Given the description of an element on the screen output the (x, y) to click on. 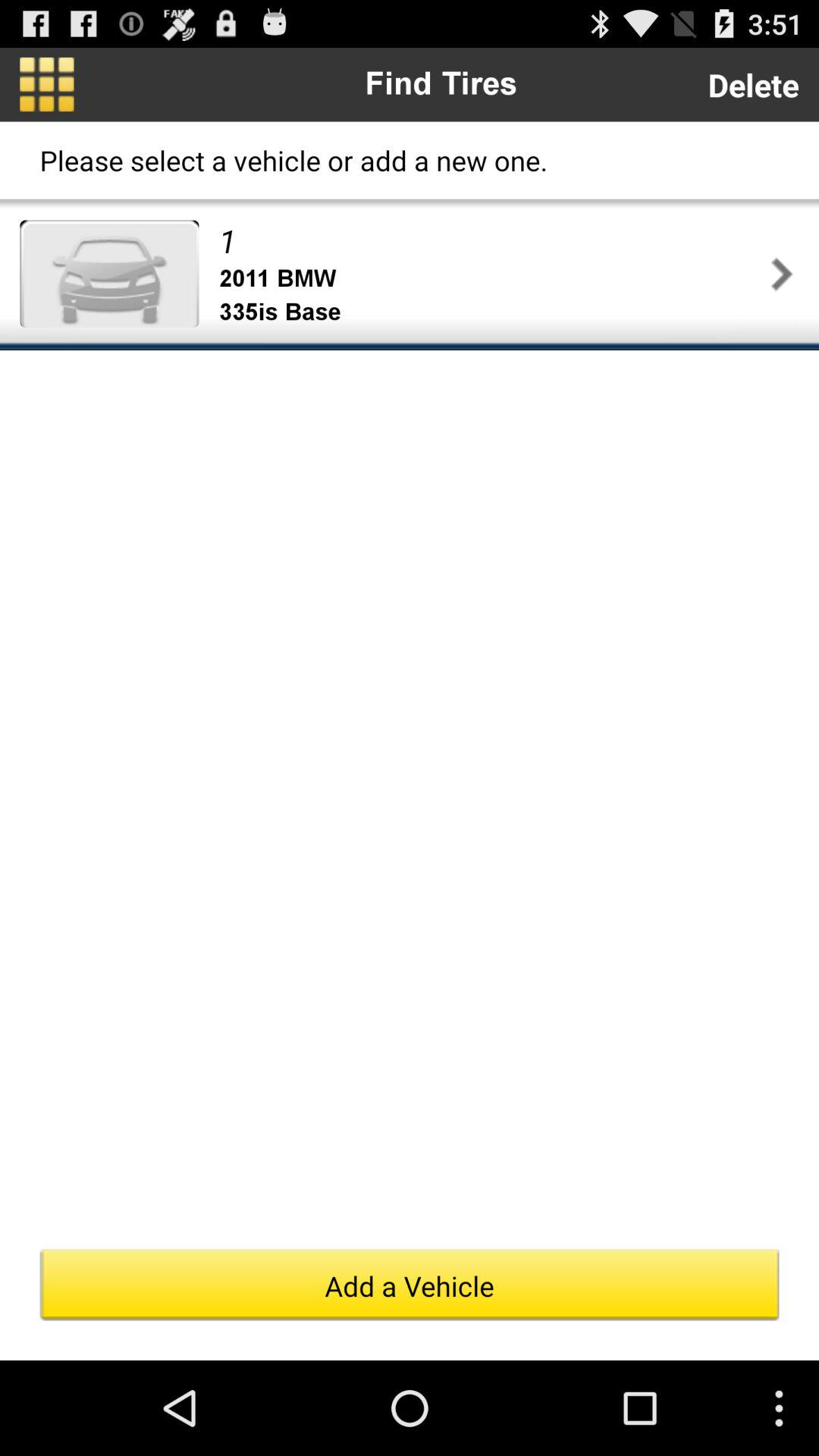
launch app above 1 icon (753, 84)
